Given the description of an element on the screen output the (x, y) to click on. 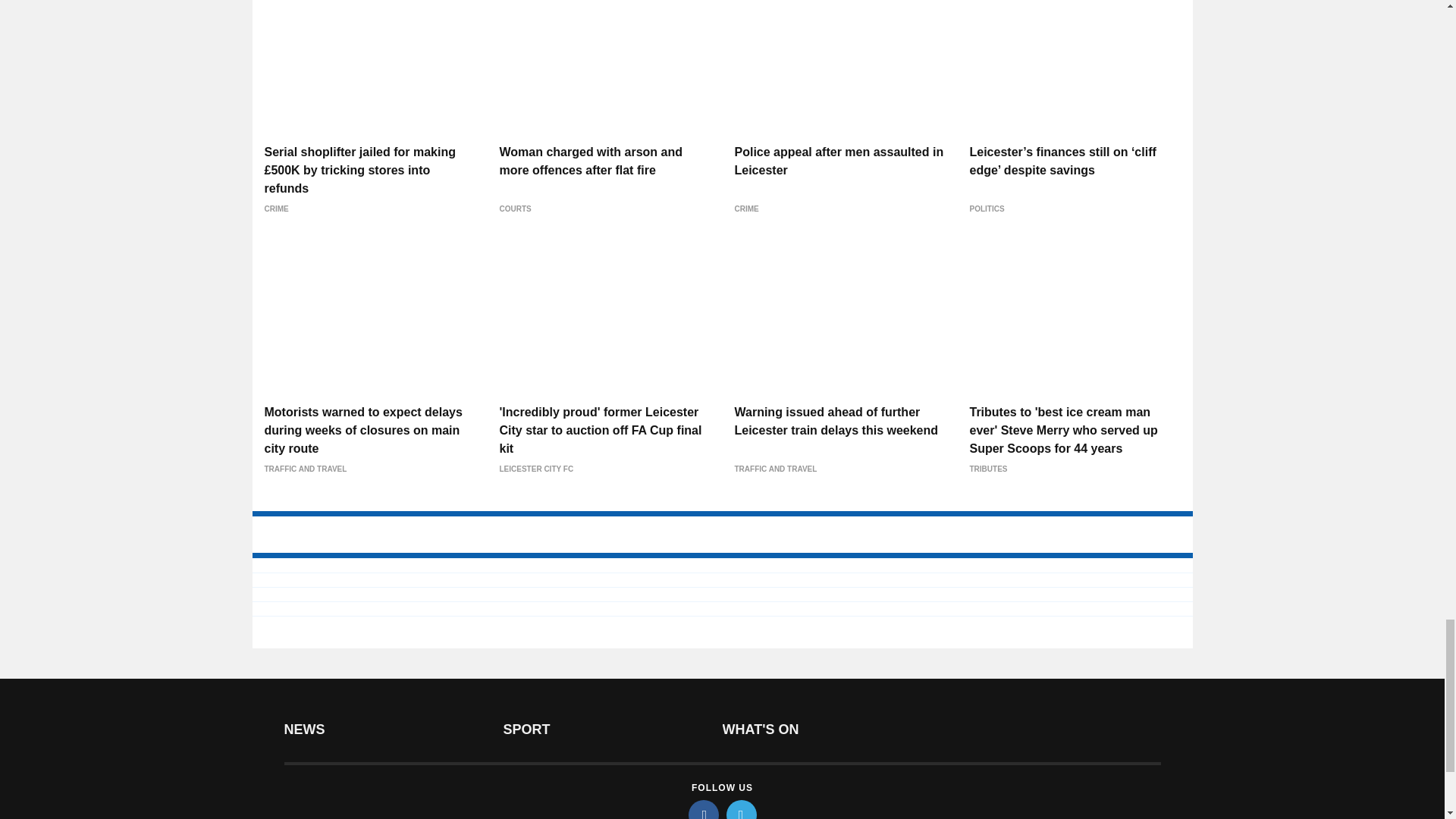
facebook (703, 809)
twitter (741, 809)
